Given the description of an element on the screen output the (x, y) to click on. 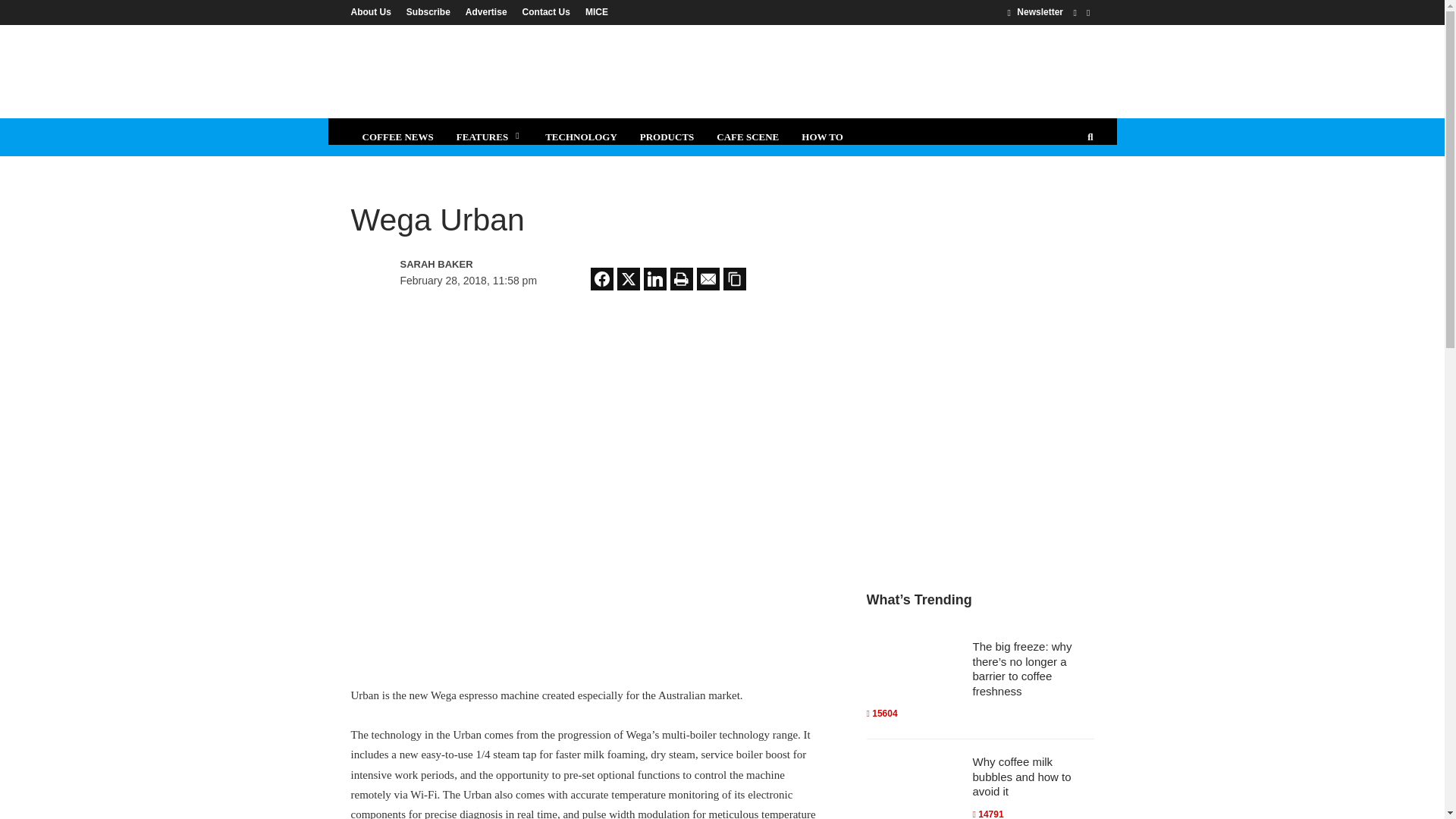
SARAH BAKER (465, 263)
PRODUCTS (667, 136)
CAFE SCENE (747, 136)
Subscribe (428, 11)
Share on LinkedIn (654, 278)
TECHNOLOGY (581, 136)
Advertise (486, 11)
Share on Twitter (628, 278)
Share on Copy Link (734, 278)
FEATURES (489, 136)
